Given the description of an element on the screen output the (x, y) to click on. 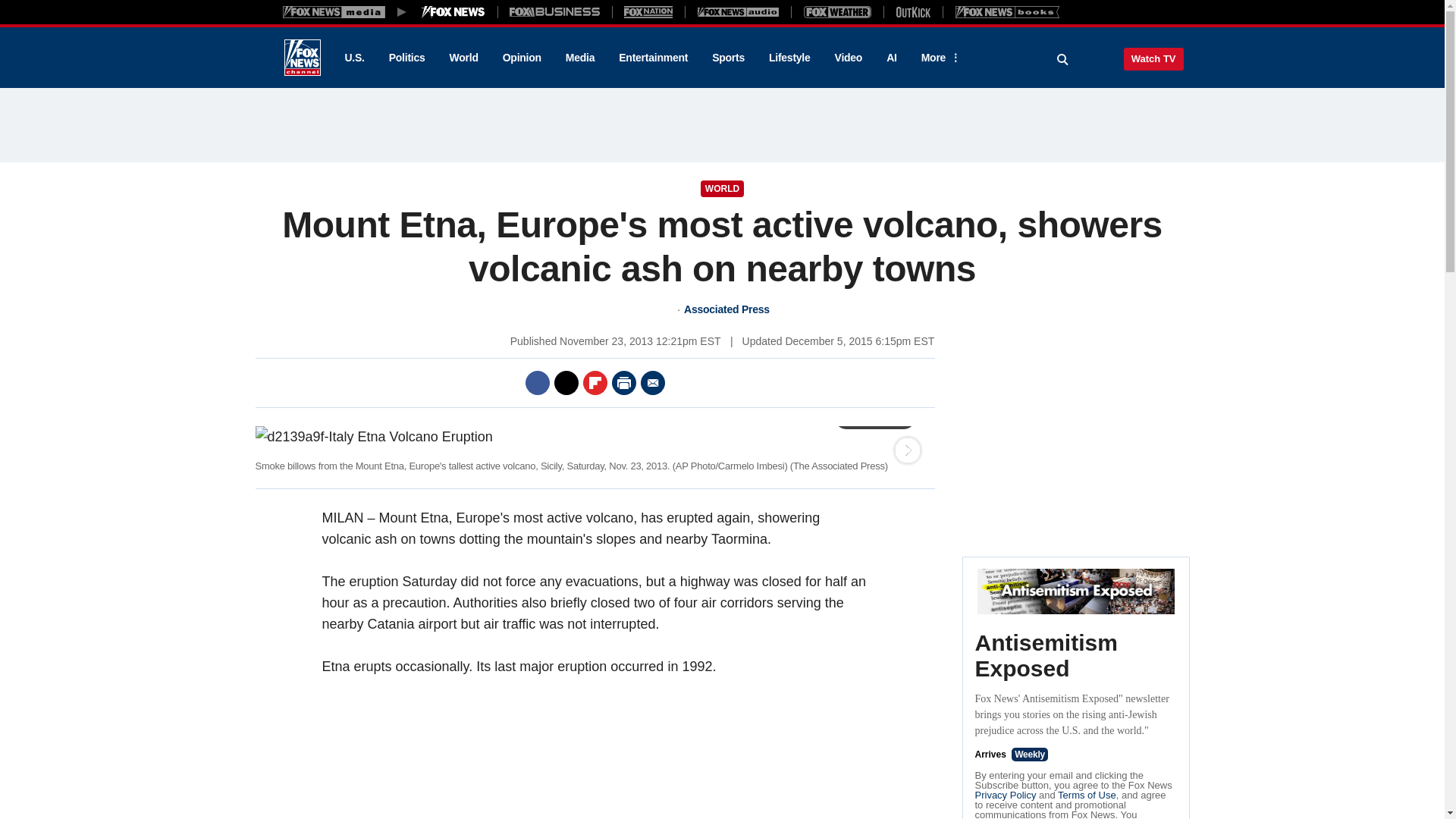
Media (580, 57)
Fox News Audio (737, 11)
Watch TV (1153, 58)
AI (891, 57)
Fox Nation (648, 11)
Outkick (912, 11)
Entertainment (653, 57)
Fox Business (554, 11)
Sports (728, 57)
Fox News Media (453, 11)
Fox Weather (836, 11)
More (938, 57)
Politics (407, 57)
World (464, 57)
Fox News (301, 57)
